Given the description of an element on the screen output the (x, y) to click on. 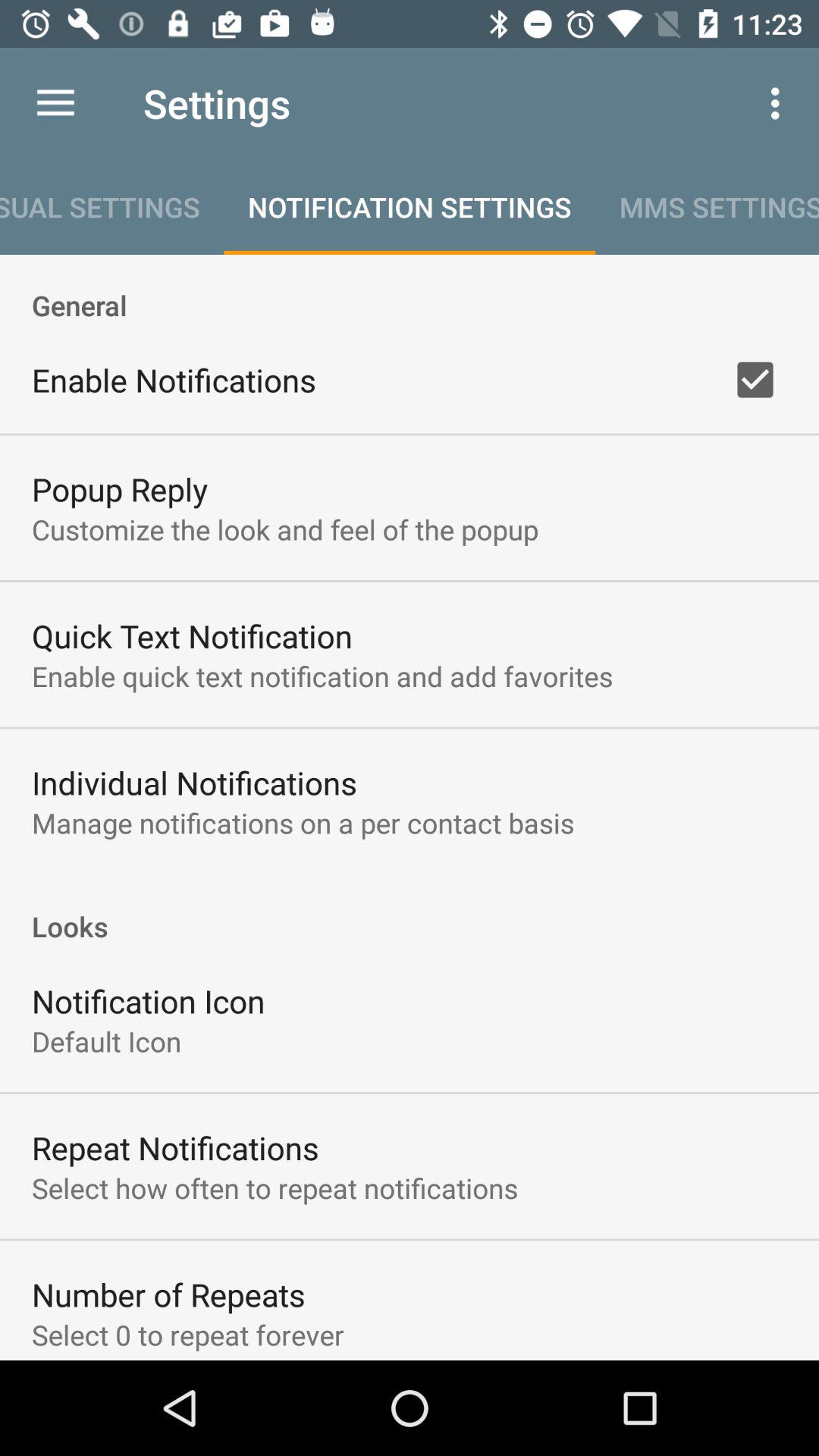
scroll to select how often icon (274, 1187)
